Given the description of an element on the screen output the (x, y) to click on. 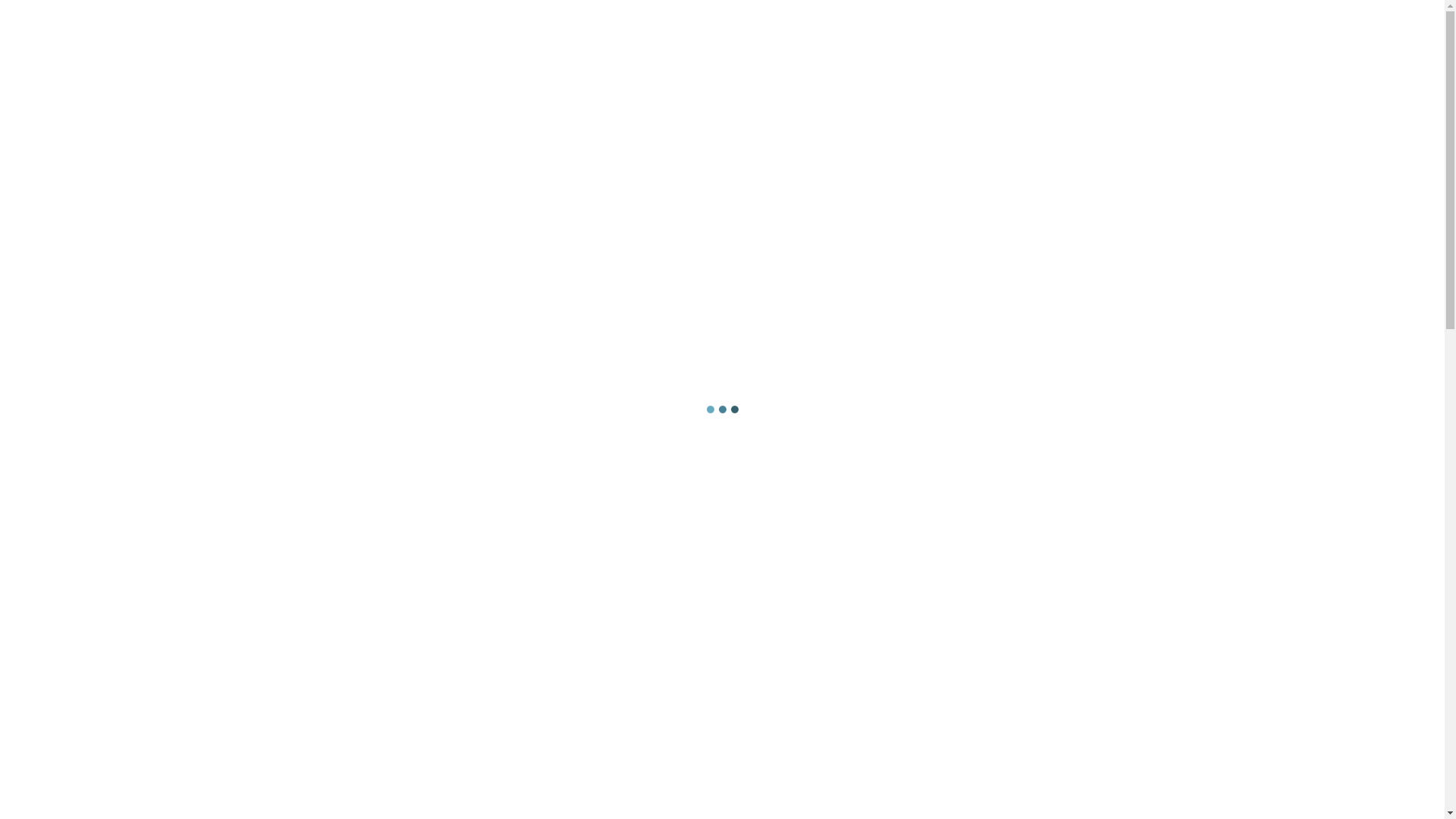
antaeuscoe Element type: text (1033, 490)
antaeuscoe Element type: text (1033, 329)
June 13, 2022 Element type: text (1051, 393)
Football Element type: text (363, 243)
August 2, 2022 Element type: text (1054, 313)
Sources: Phils get closer Robertson, OF Marsh Element type: text (1072, 285)
January 8, 2023 Element type: text (1054, 554)
Support Element type: text (498, 12)
4 Things You Can Do to Help Manage Pre-Race Nerves Element type: text (1079, 446)
Terms & Condition Element type: text (562, 192)
Lamar rejoins Ravens for 1st time this offseason Element type: text (1082, 365)
Support Element type: text (477, 192)
Lamar rejoins Ravens for 1st time this offseason Element type: hover (964, 375)
antaeuscoe Element type: text (1033, 410)
4 Things You Can Do to Help Manage Pre-Race Nerves Element type: hover (964, 455)
Cheat Sheet: All you need to know to win in Week 18 Element type: text (1080, 526)
Home Element type: text (310, 243)
antaeuscoe Element type: text (1033, 570)
Terms & Condition Element type: text (567, 12)
Search Element type: text (1133, 244)
Privacy & Policy Element type: text (400, 12)
Faq Element type: text (425, 192)
Sources: Phils get closer Robertson, OF Marsh Element type: hover (964, 294)
February 8, 2023 Element type: text (1057, 473)
Privacy & Policy Element type: text (357, 192)
Cheat Sheet: All you need to know to win in Week 18 Element type: hover (964, 535)
Faq Element type: text (457, 12)
FOOTBALL Element type: text (307, 640)
